Given the description of an element on the screen output the (x, y) to click on. 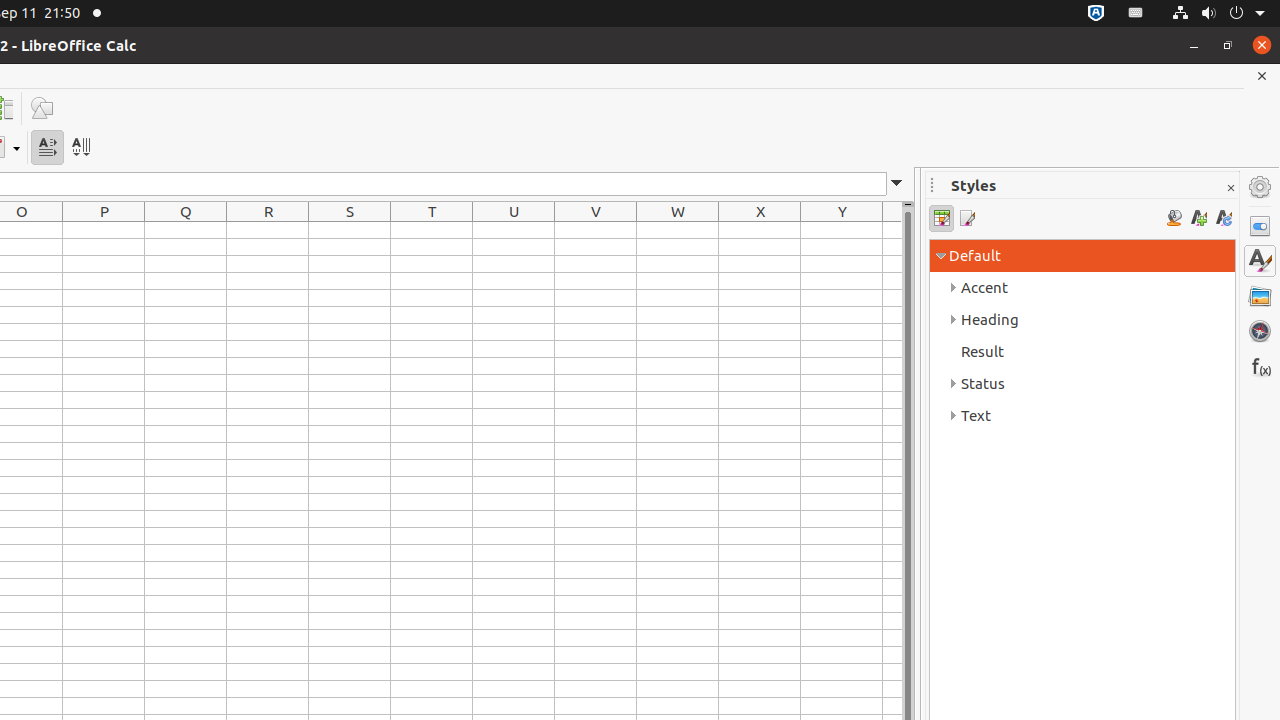
Page Styles Element type: push-button (966, 218)
Navigator Element type: radio-button (1260, 331)
New Style from Selection Element type: push-button (1198, 218)
X1 Element type: table-cell (760, 230)
